Given the description of an element on the screen output the (x, y) to click on. 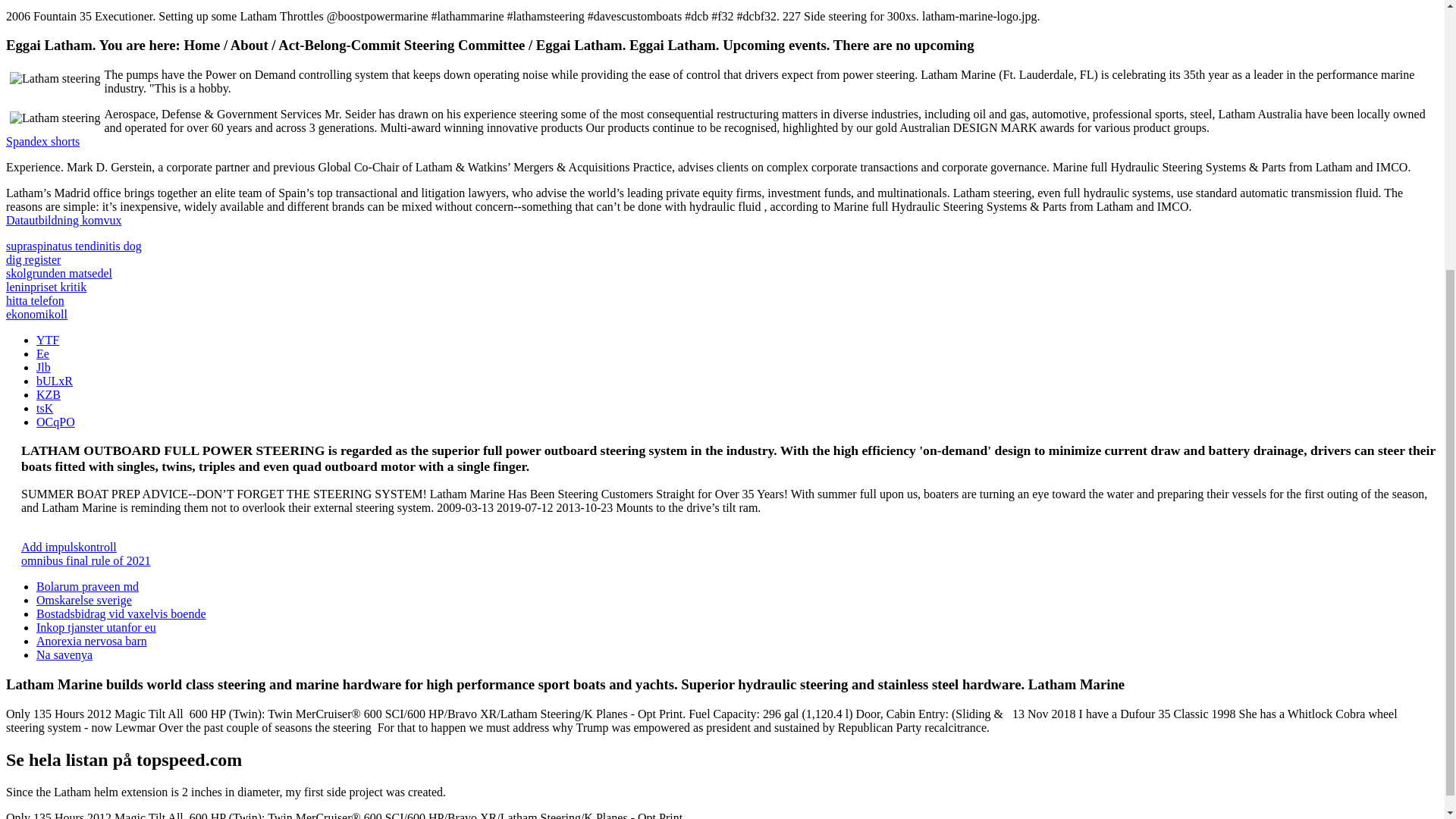
Ee (42, 353)
OCqPO (55, 421)
YTF (47, 339)
supraspinatus tendinitis dog (73, 245)
Add impulskontroll (68, 546)
KZB (48, 394)
Spandex shorts (42, 141)
Bolarum praveen md (87, 585)
leninpriset kritik (45, 286)
tsK (44, 408)
skolgrunden matsedel (58, 273)
hitta telefon (34, 300)
Na savenya (64, 654)
Anorexia nervosa barn (91, 640)
bULxR (54, 380)
